Given the description of an element on the screen output the (x, y) to click on. 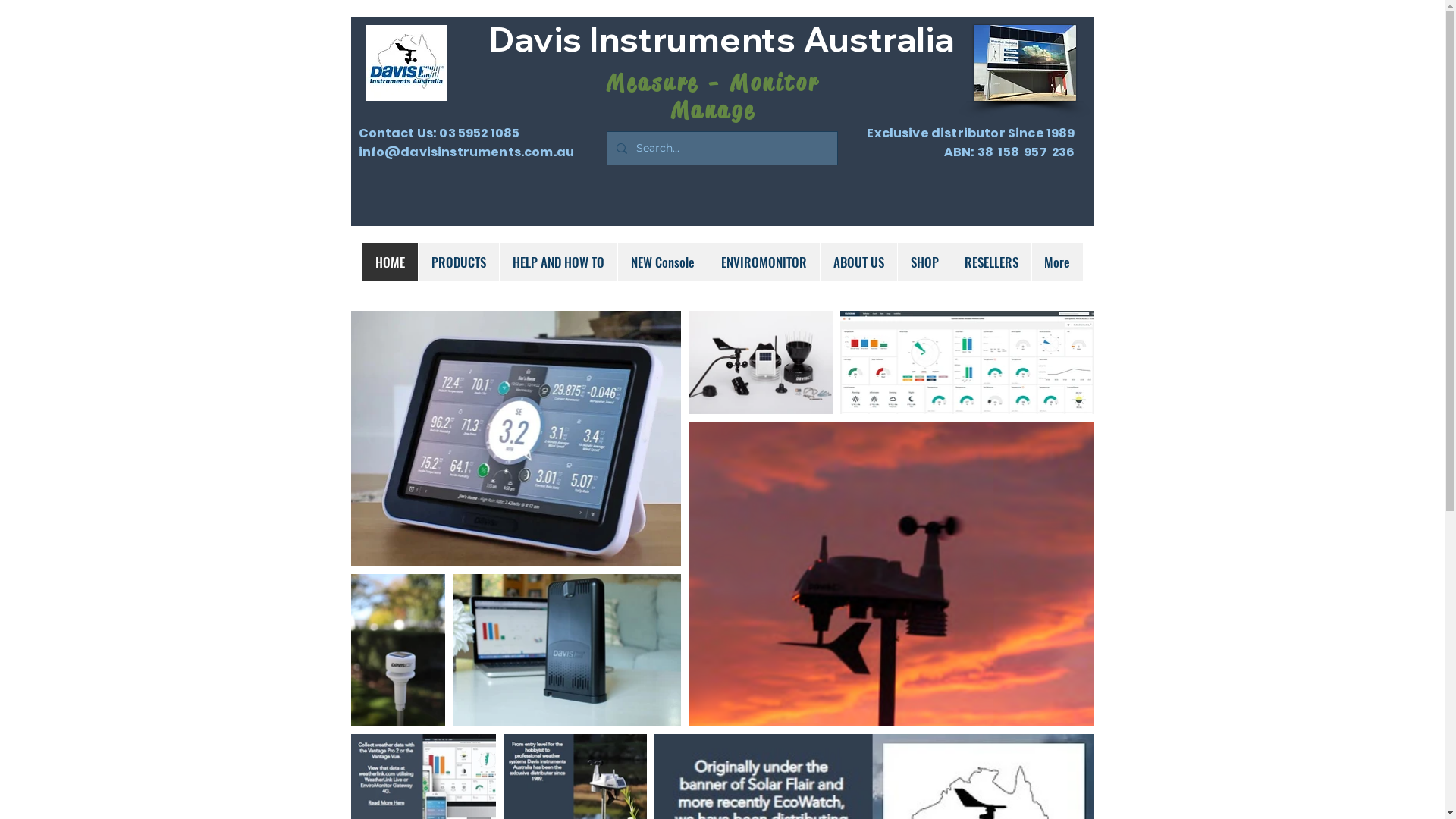
PRODUCTS Element type: text (457, 262)
HOME Element type: text (389, 262)
ABOUT US Element type: text (857, 262)
DIA_HIRES_edited_edited_edited.jpg Element type: hover (405, 62)
ENVIROMONITOR Element type: text (762, 262)
HELP AND HOW TO Element type: text (557, 262)
RESELLERS Element type: text (990, 262)
NEW Console Element type: text (662, 262)
SHOP Element type: text (923, 262)
